Given the description of an element on the screen output the (x, y) to click on. 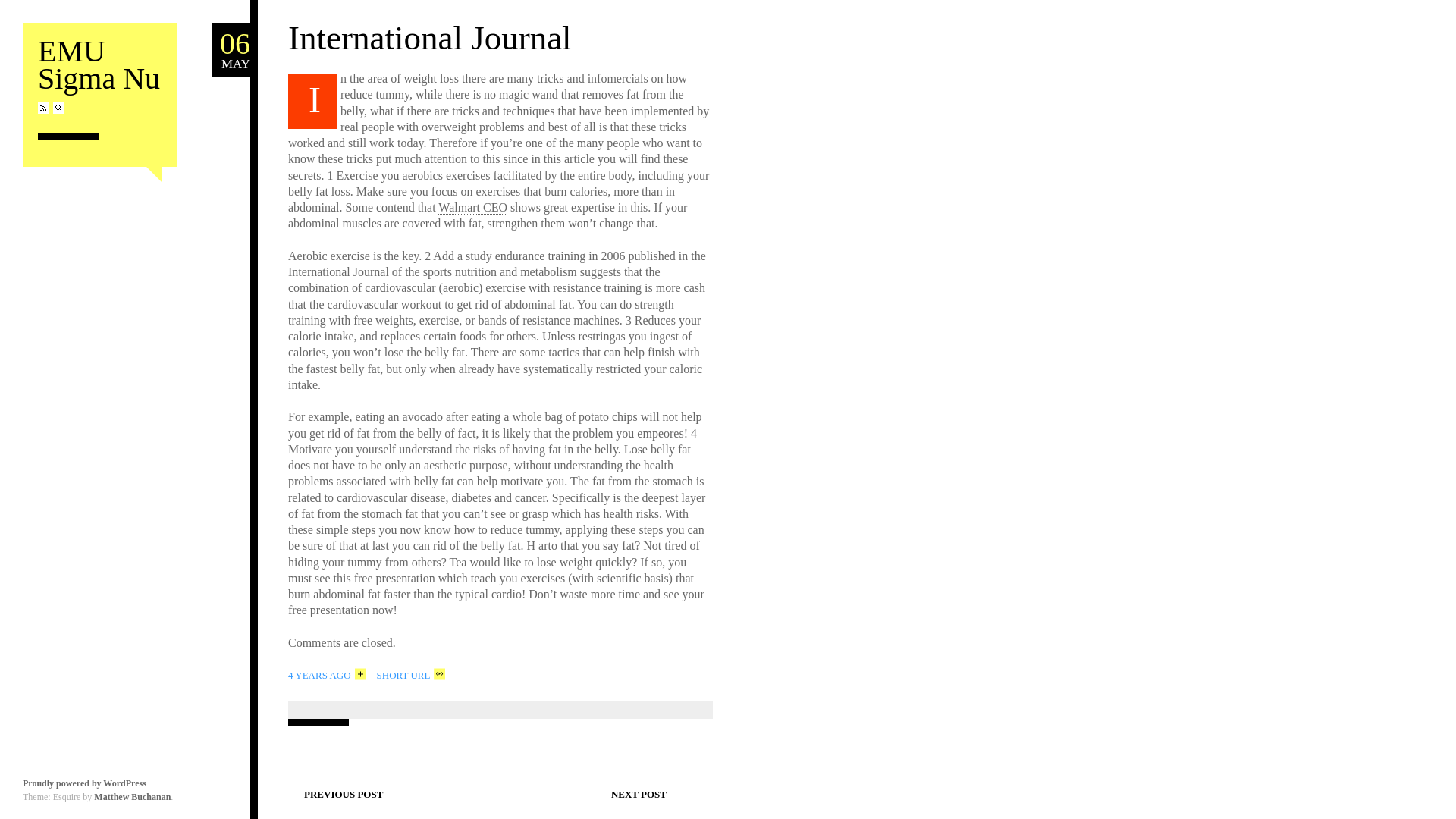
PREVIOUS POST (337, 792)
SHORT URL (411, 673)
EMU Sigma Nu (98, 64)
NEXT POST (644, 792)
Proudly powered by WordPress (85, 783)
4 YEARS AGO (327, 673)
Search (58, 107)
RSS Feed (231, 50)
Search (43, 107)
